Given the description of an element on the screen output the (x, y) to click on. 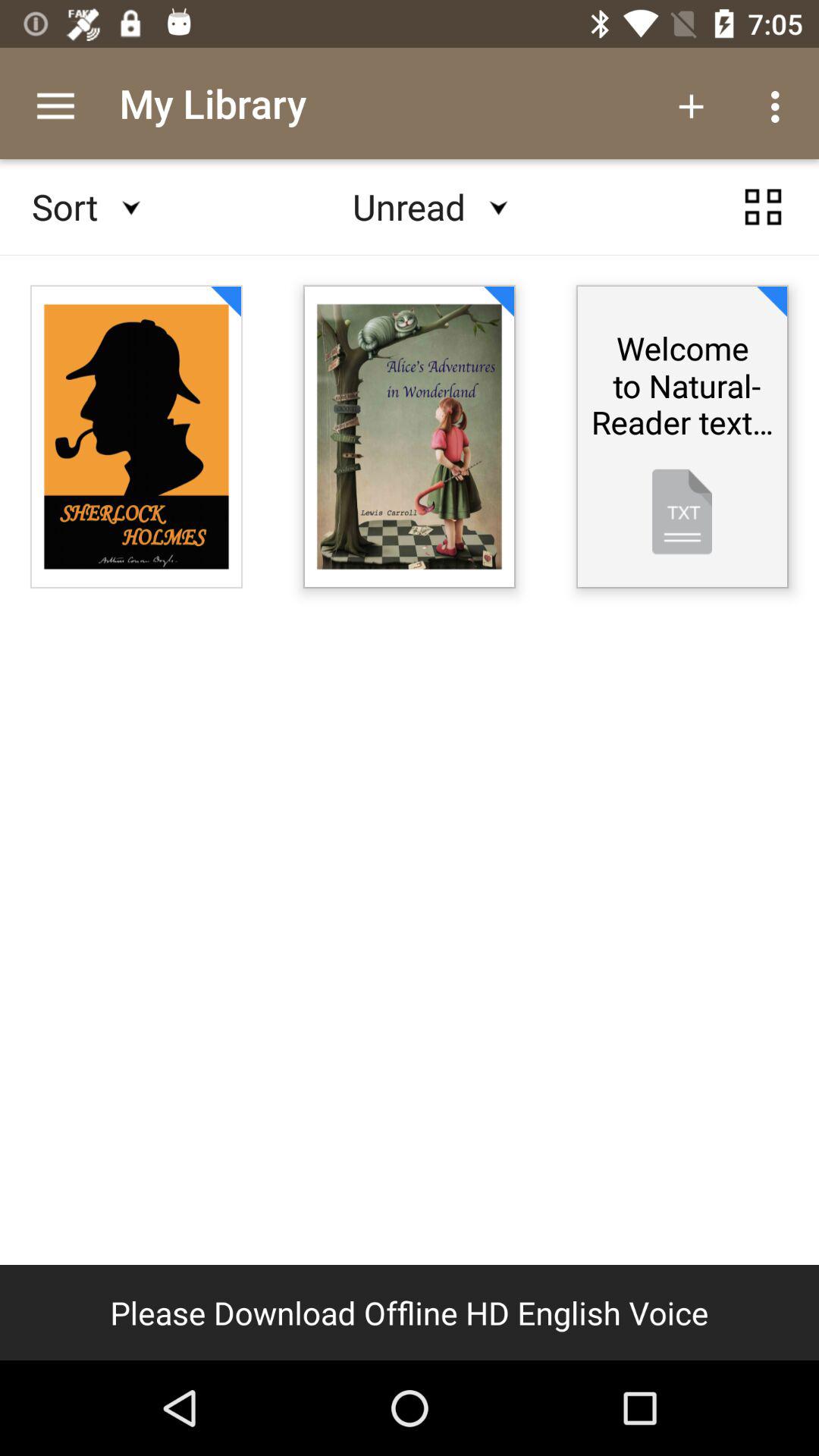
this button in features (763, 206)
